Given the description of an element on the screen output the (x, y) to click on. 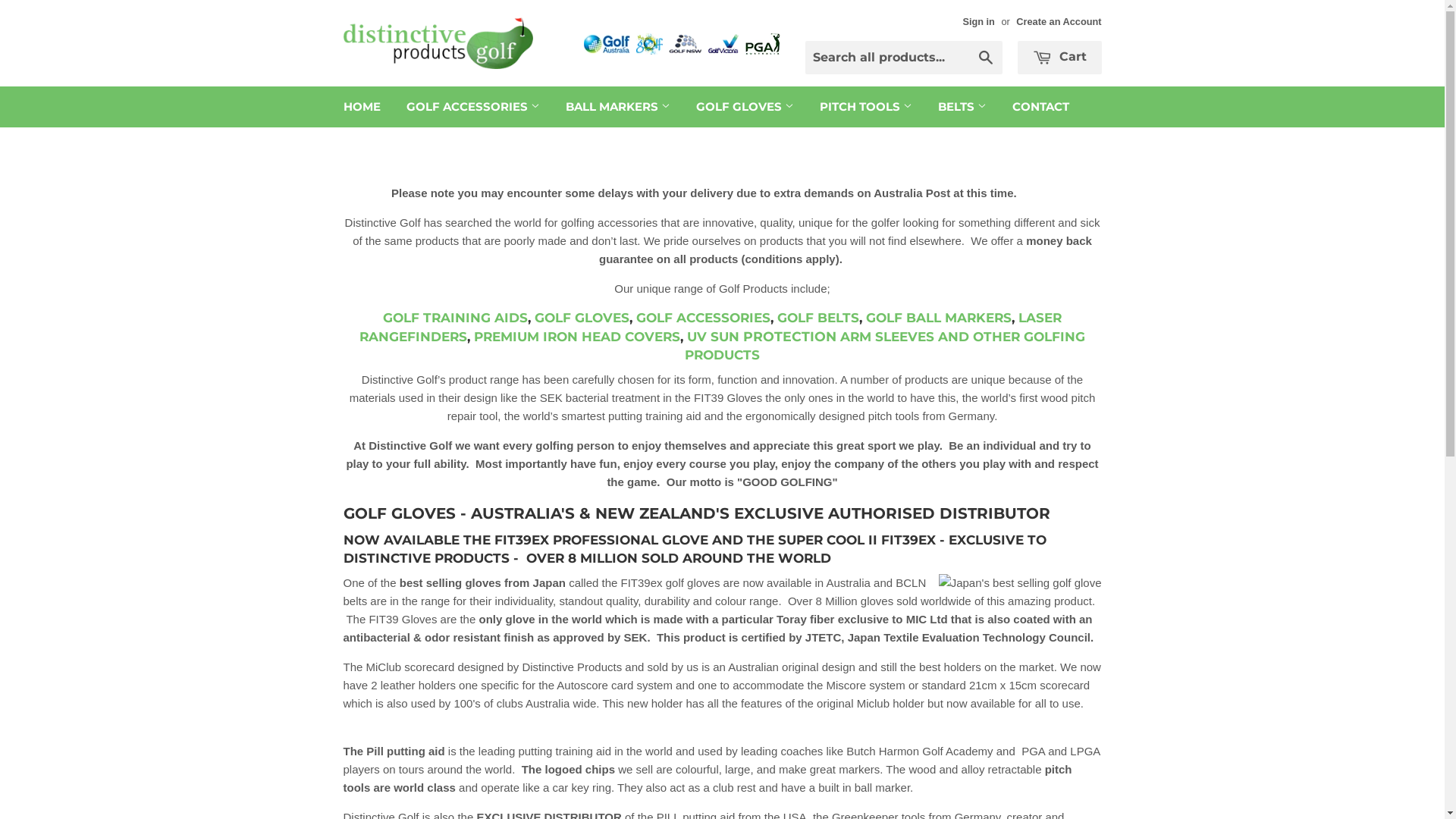
LASER RANGEFINDERS Element type: text (710, 327)
GOLF BALL MARKERS Element type: text (938, 317)
GOLF GLOVES Element type: text (744, 106)
GOLF BELTS Element type: text (818, 317)
GOLF GLOVES Element type: text (581, 317)
Search Element type: text (985, 58)
BALL MARKERS Element type: text (616, 106)
CONTACT Element type: text (1040, 106)
PREMIUM IRON HEAD COVERS Element type: text (576, 336)
BELTS Element type: text (961, 106)
Cart Element type: text (1059, 57)
GOLF TRAINING AIDS Element type: text (454, 317)
ORIES Element type: text (749, 317)
PITCH TOOLS Element type: text (865, 106)
Create an Account Element type: text (1058, 21)
Sign in Element type: text (978, 21)
GOLF ACCESSORIES Element type: text (472, 106)
HOME Element type: text (362, 106)
UV SUN PROTECTION ARM SLEEVES AND OTHER GOLFING PRODUCTS Element type: text (884, 345)
GOLF ACCES Element type: text (678, 317)
S Element type: text (725, 317)
